Given the description of an element on the screen output the (x, y) to click on. 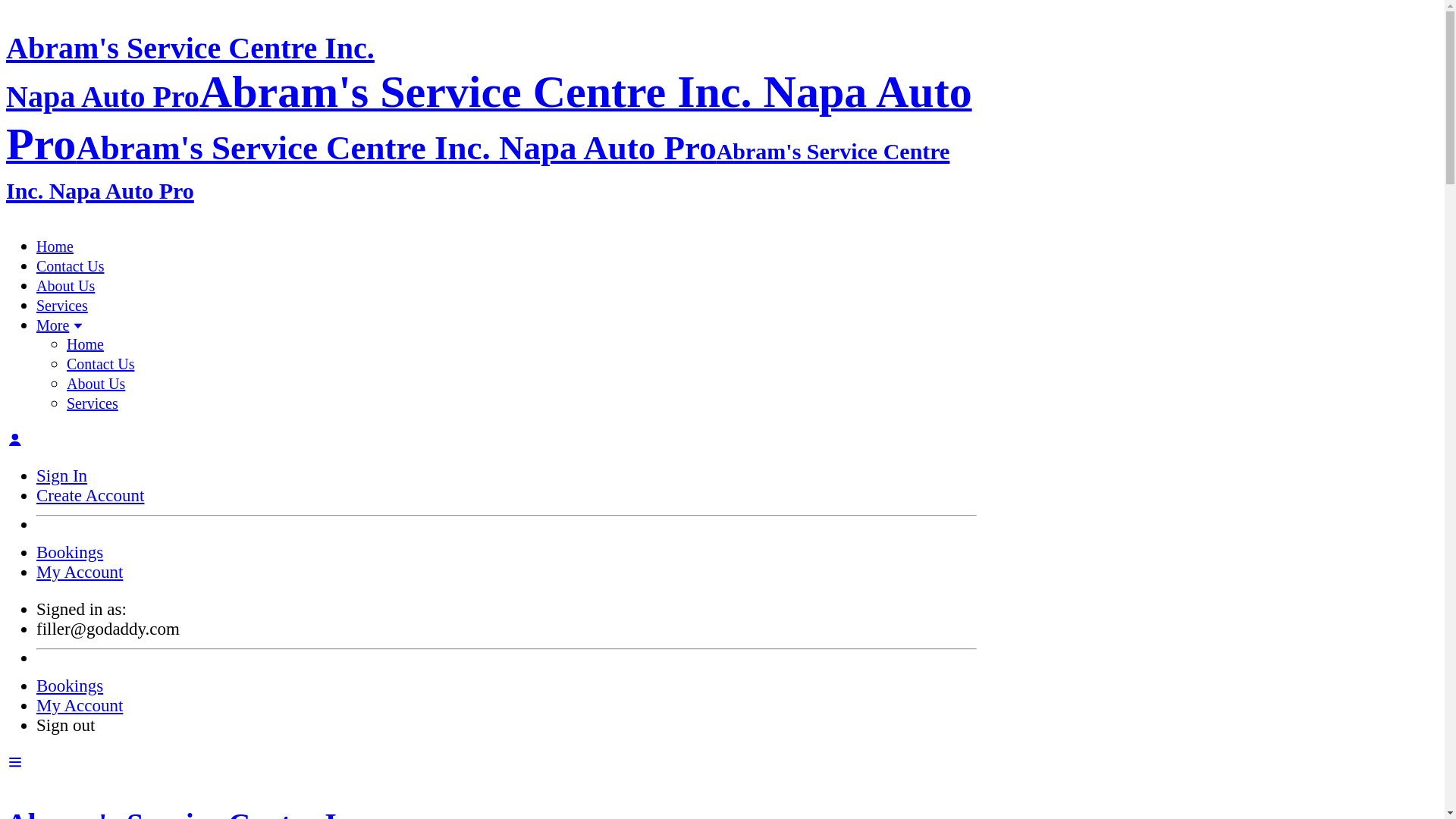
My Account Element type: text (79, 571)
Sign In Element type: text (61, 475)
About Us Element type: text (95, 383)
Home Element type: text (84, 343)
More Element type: text (506, 325)
Contact Us Element type: text (100, 363)
Services Element type: text (92, 403)
Contact Us Element type: text (69, 265)
My Account Element type: text (79, 705)
Home Element type: text (54, 246)
Services Element type: text (61, 305)
Bookings Element type: text (69, 685)
About Us Element type: text (65, 285)
Create Account Element type: text (90, 495)
Bookings Element type: text (69, 551)
